Given the description of an element on the screen output the (x, y) to click on. 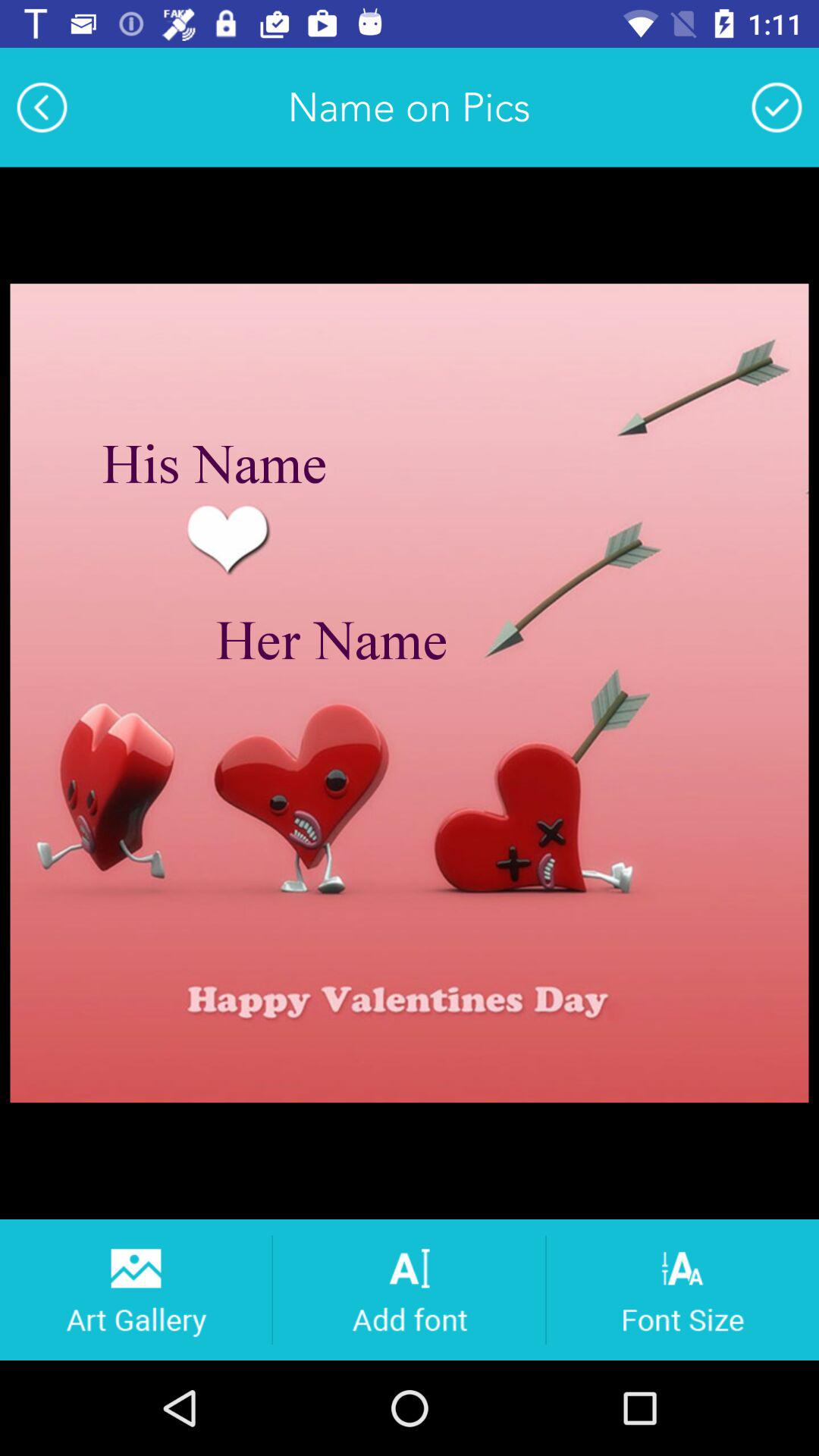
open the icon next to name on pics icon (776, 107)
